Given the description of an element on the screen output the (x, y) to click on. 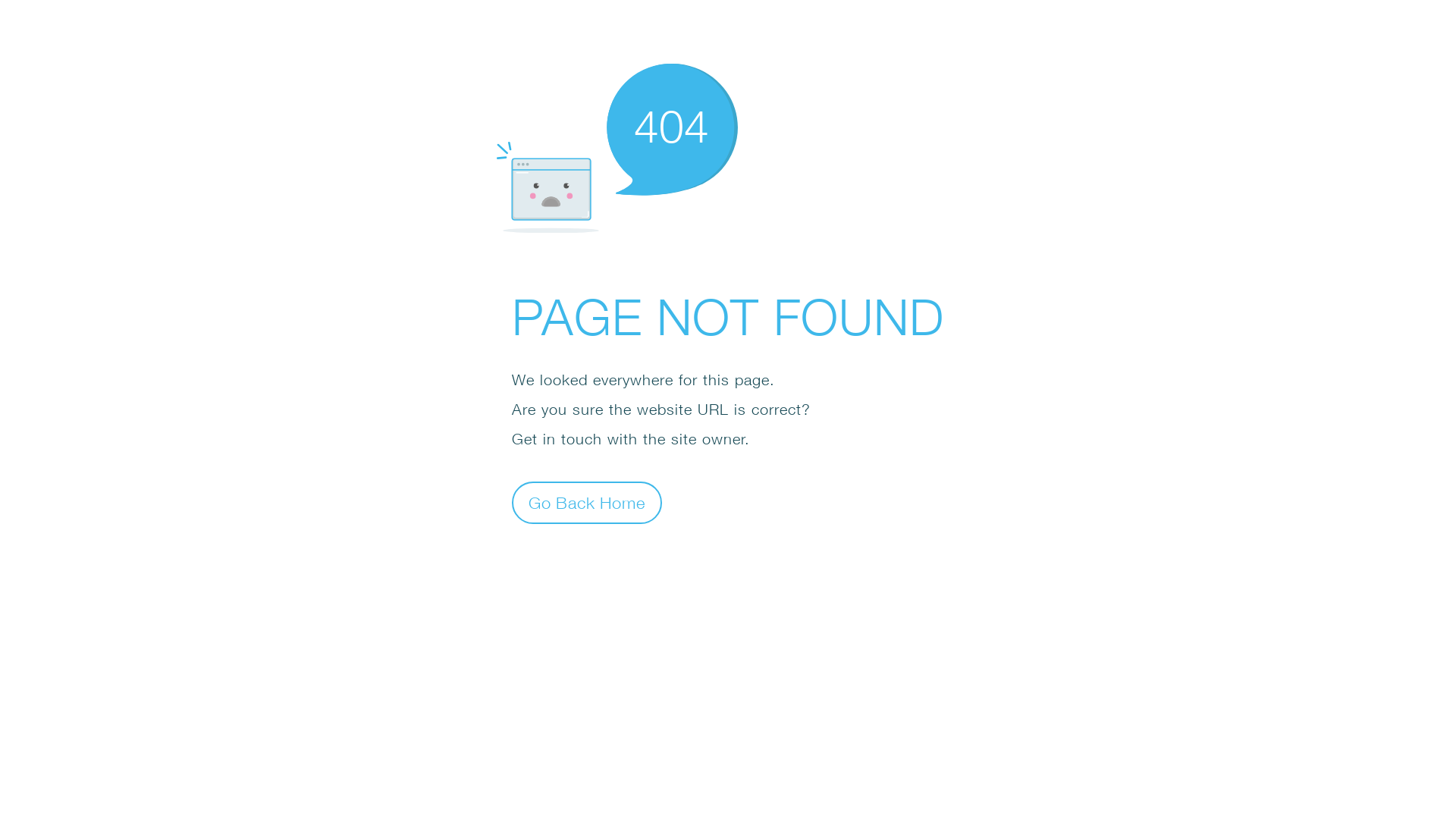
Go Back Home Element type: text (586, 502)
